Given the description of an element on the screen output the (x, y) to click on. 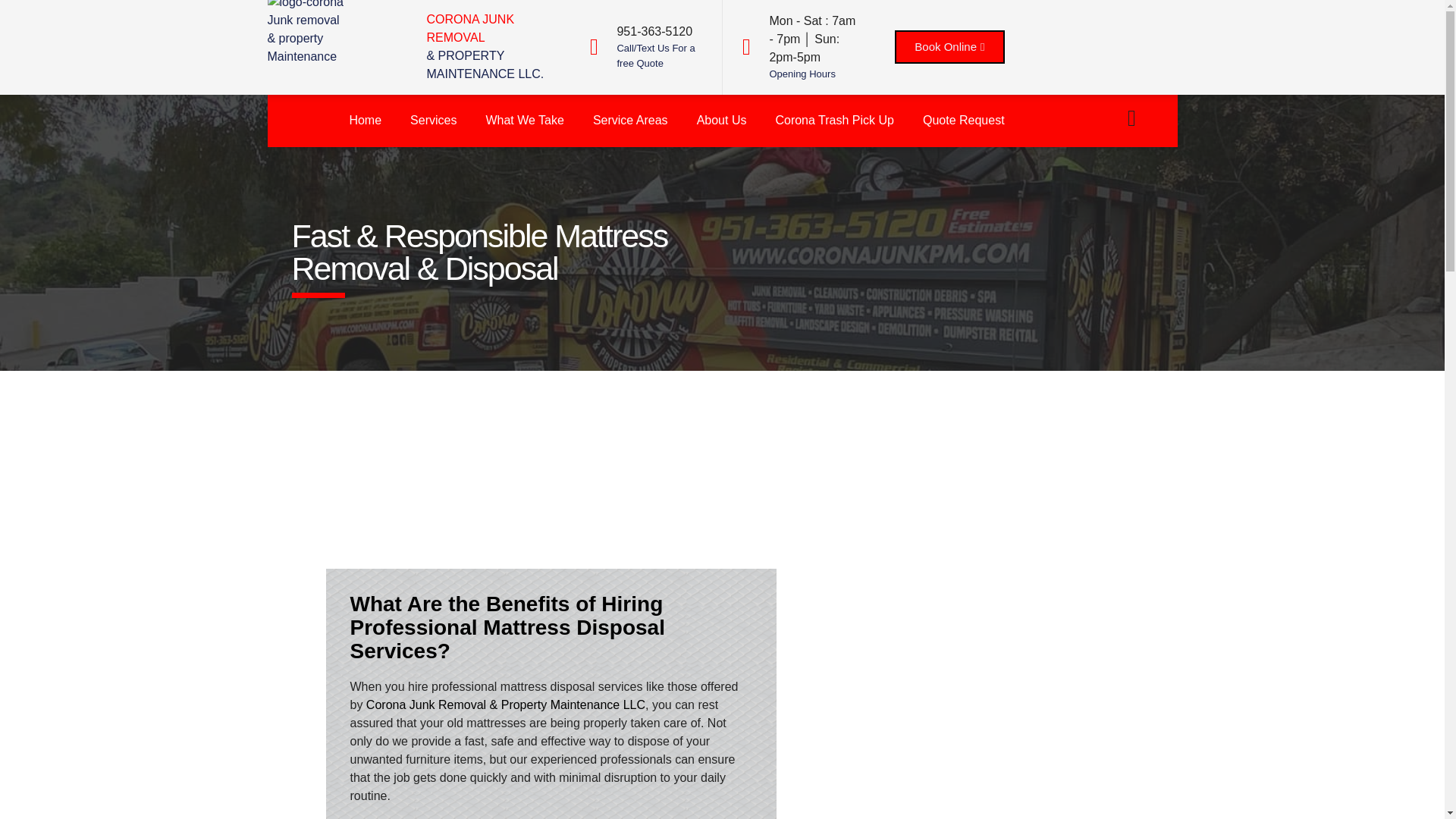
Quote Request (963, 120)
Services (433, 93)
Corona Trash Pick Up (834, 120)
About Us (721, 120)
Service Areas (630, 120)
What We Take (524, 116)
Book Online (949, 46)
951-363-5120 (654, 31)
Home (365, 90)
